Given the description of an element on the screen output the (x, y) to click on. 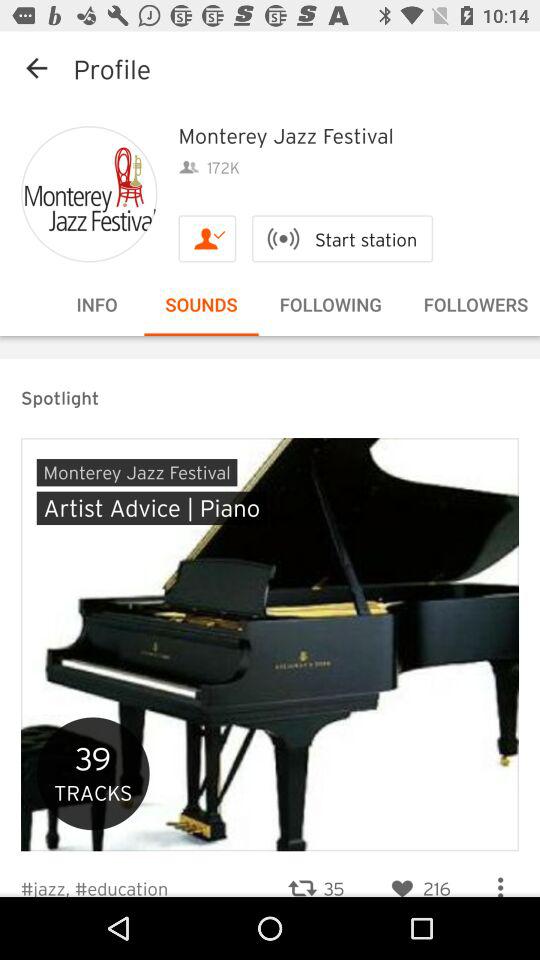
press the item next to the start station (207, 238)
